Given the description of an element on the screen output the (x, y) to click on. 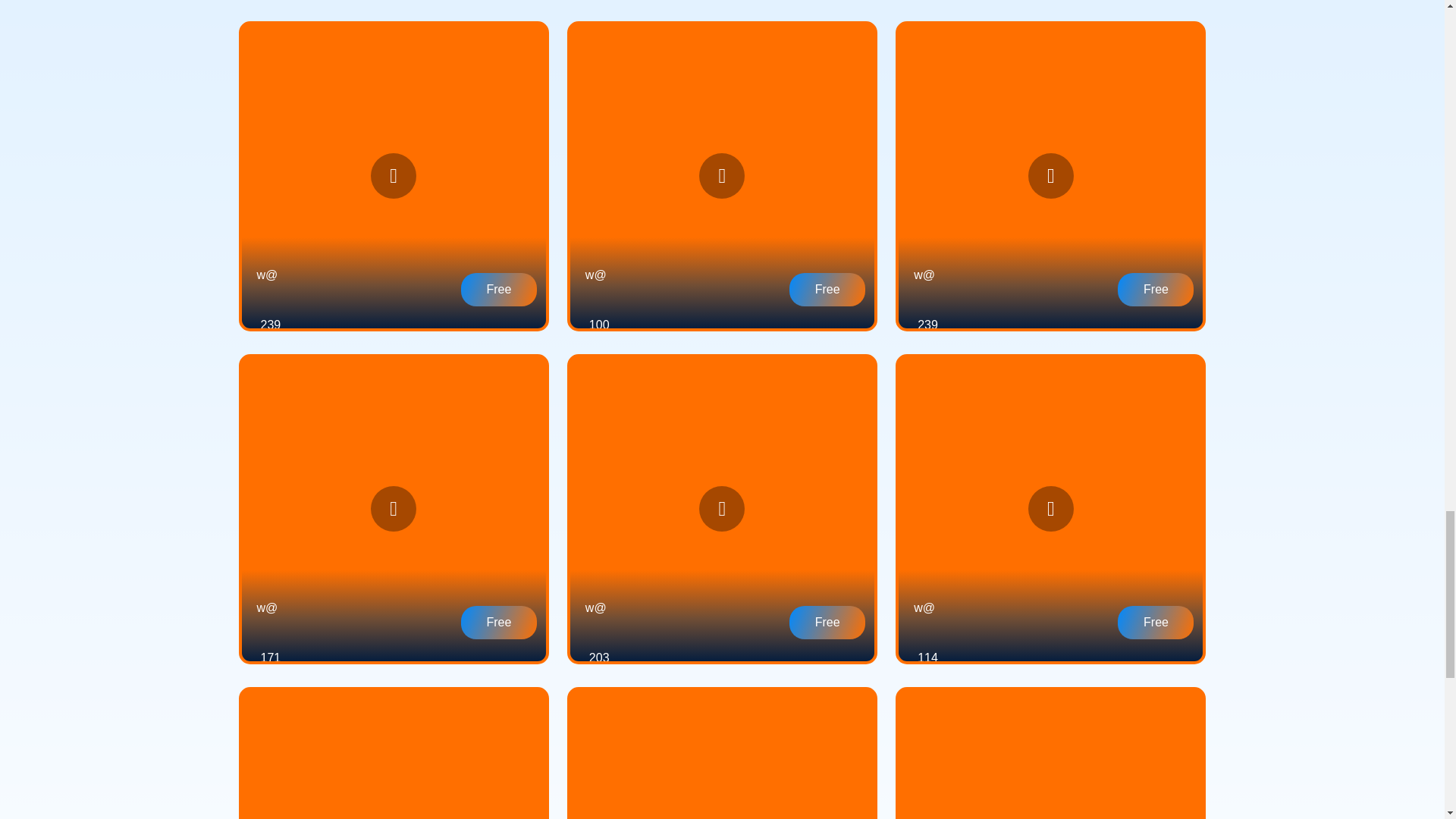
Free (499, 289)
Free (826, 289)
